Given the description of an element on the screen output the (x, y) to click on. 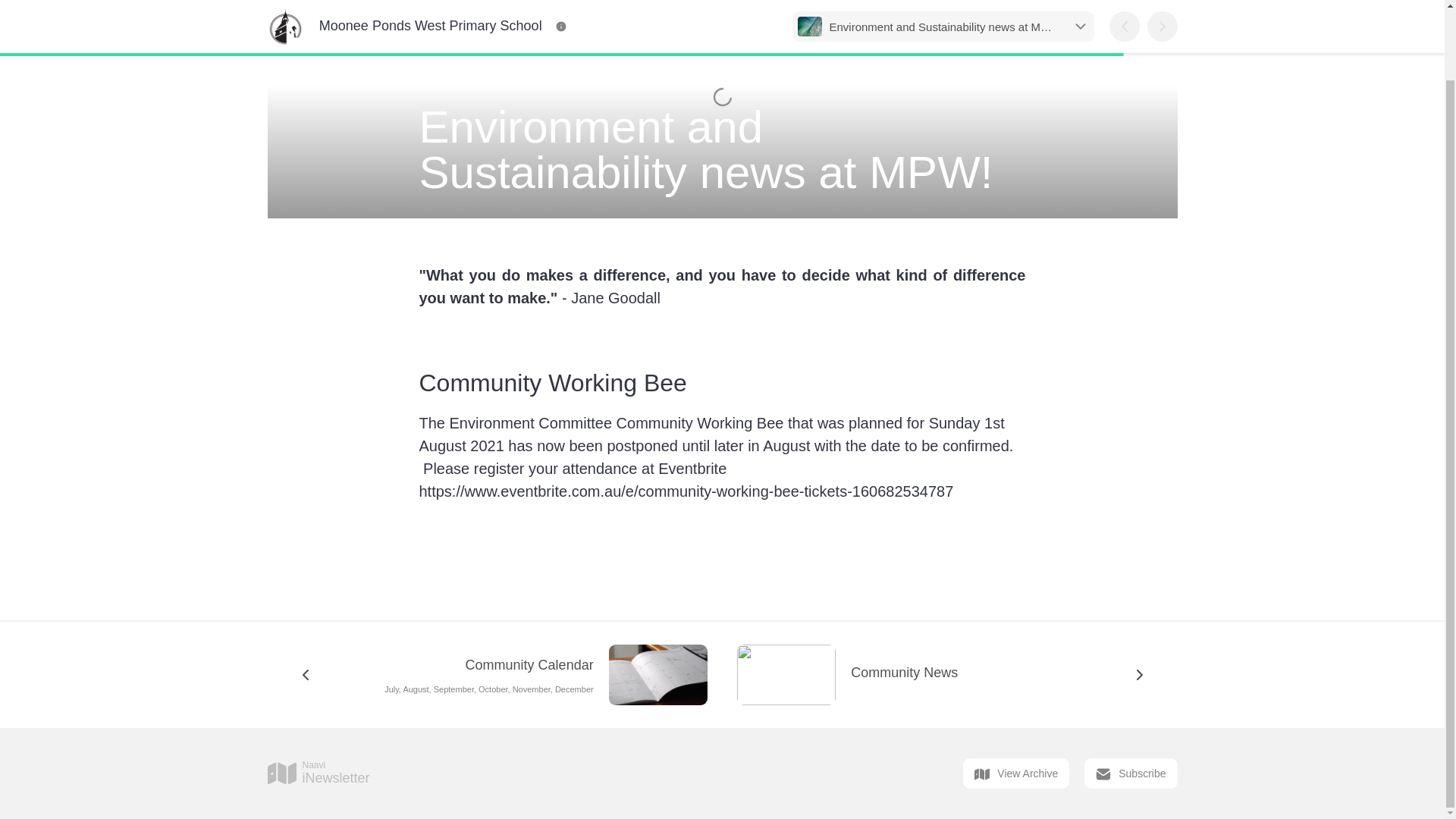
Community News (317, 773)
Subscribe (952, 674)
View Archive (1130, 773)
